Given the description of an element on the screen output the (x, y) to click on. 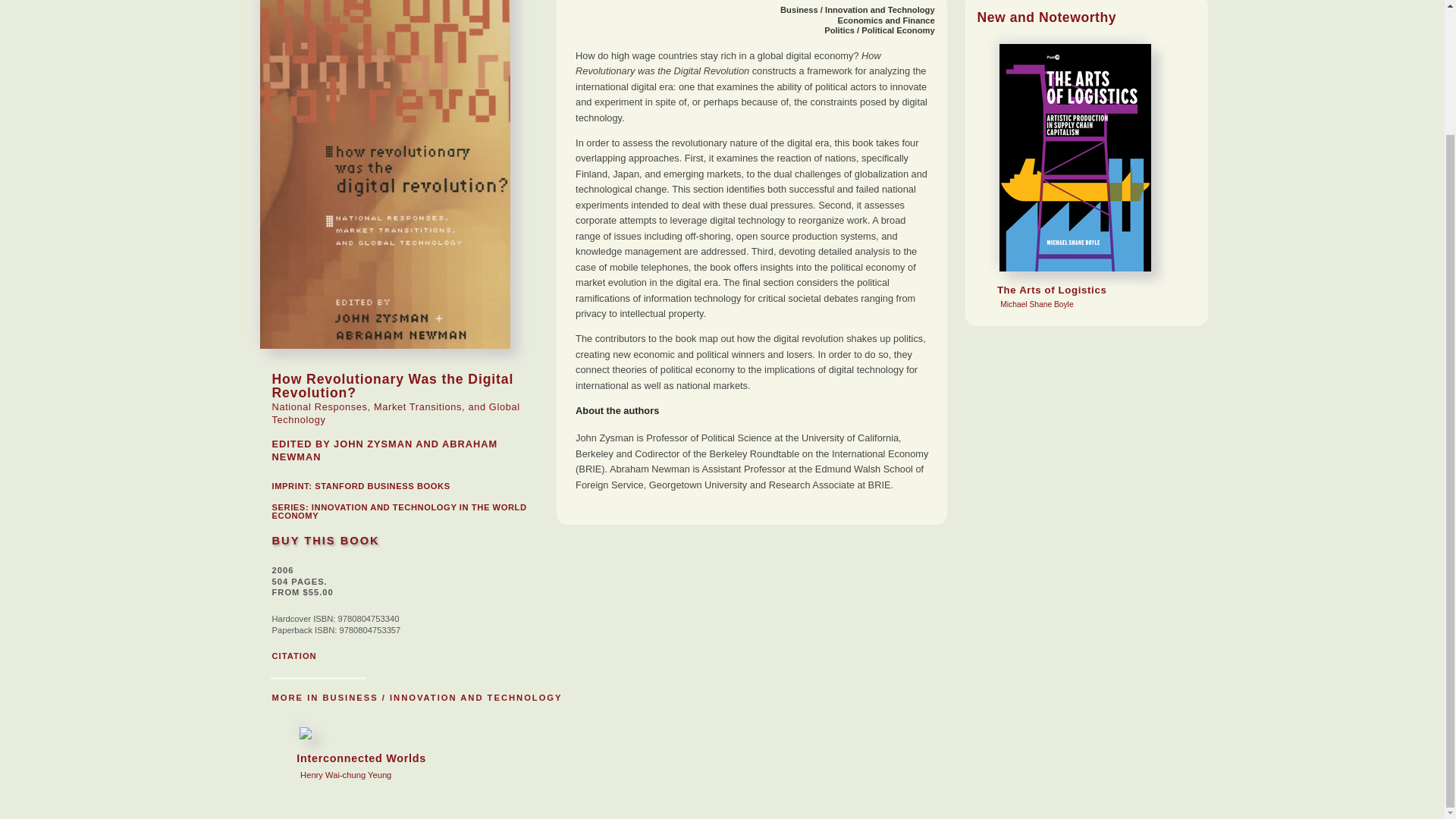
CITATION (292, 655)
Economics and Finance (352, 753)
INNOVATION AND TECHNOLOGY IN THE WORLD ECONOMY (886, 20)
BUY THIS BOOK (397, 511)
STANFORD BUSINESS BOOKS (324, 540)
